Given the description of an element on the screen output the (x, y) to click on. 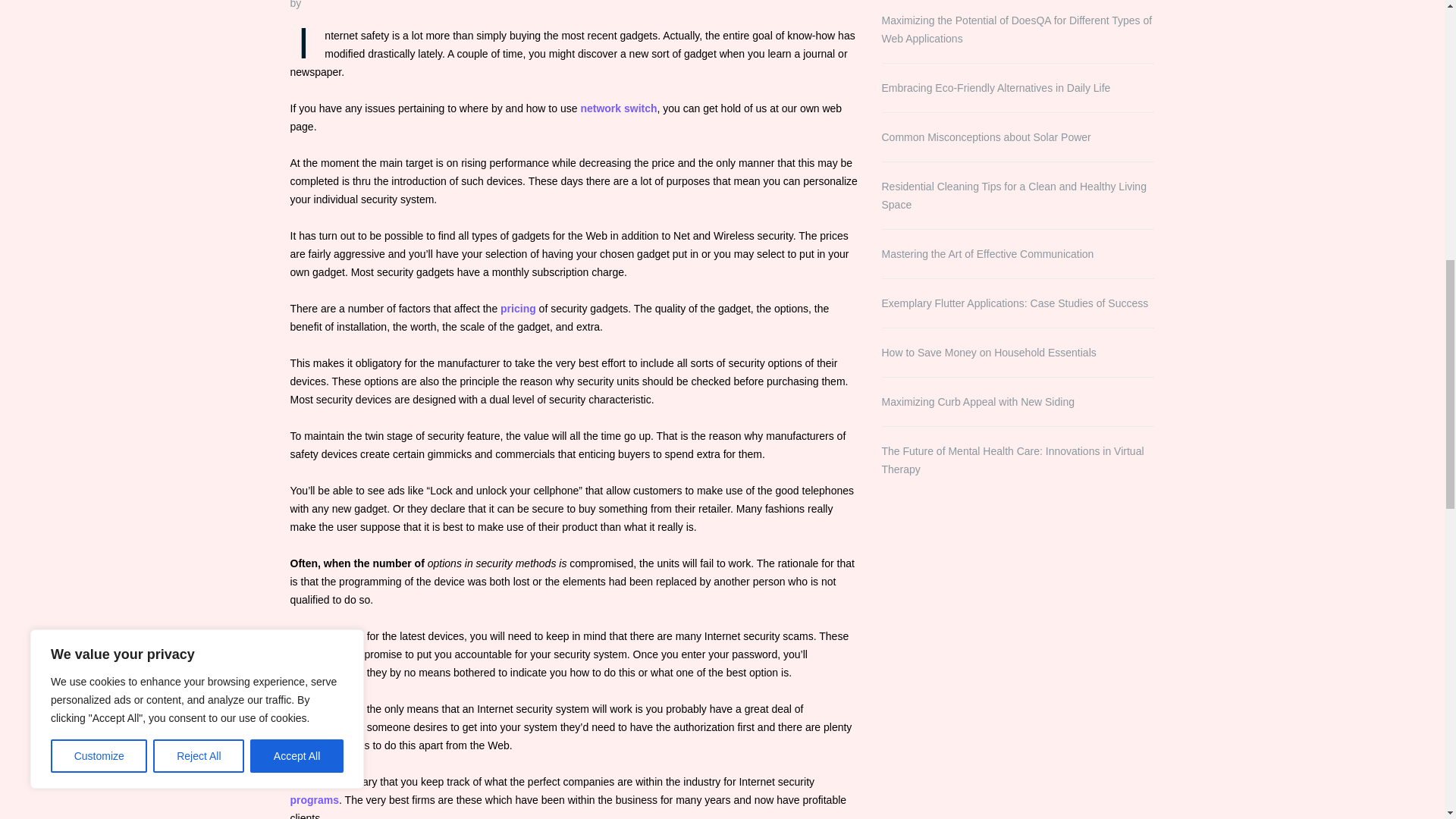
network switch (617, 107)
programs (314, 799)
pricing (517, 307)
